Given the description of an element on the screen output the (x, y) to click on. 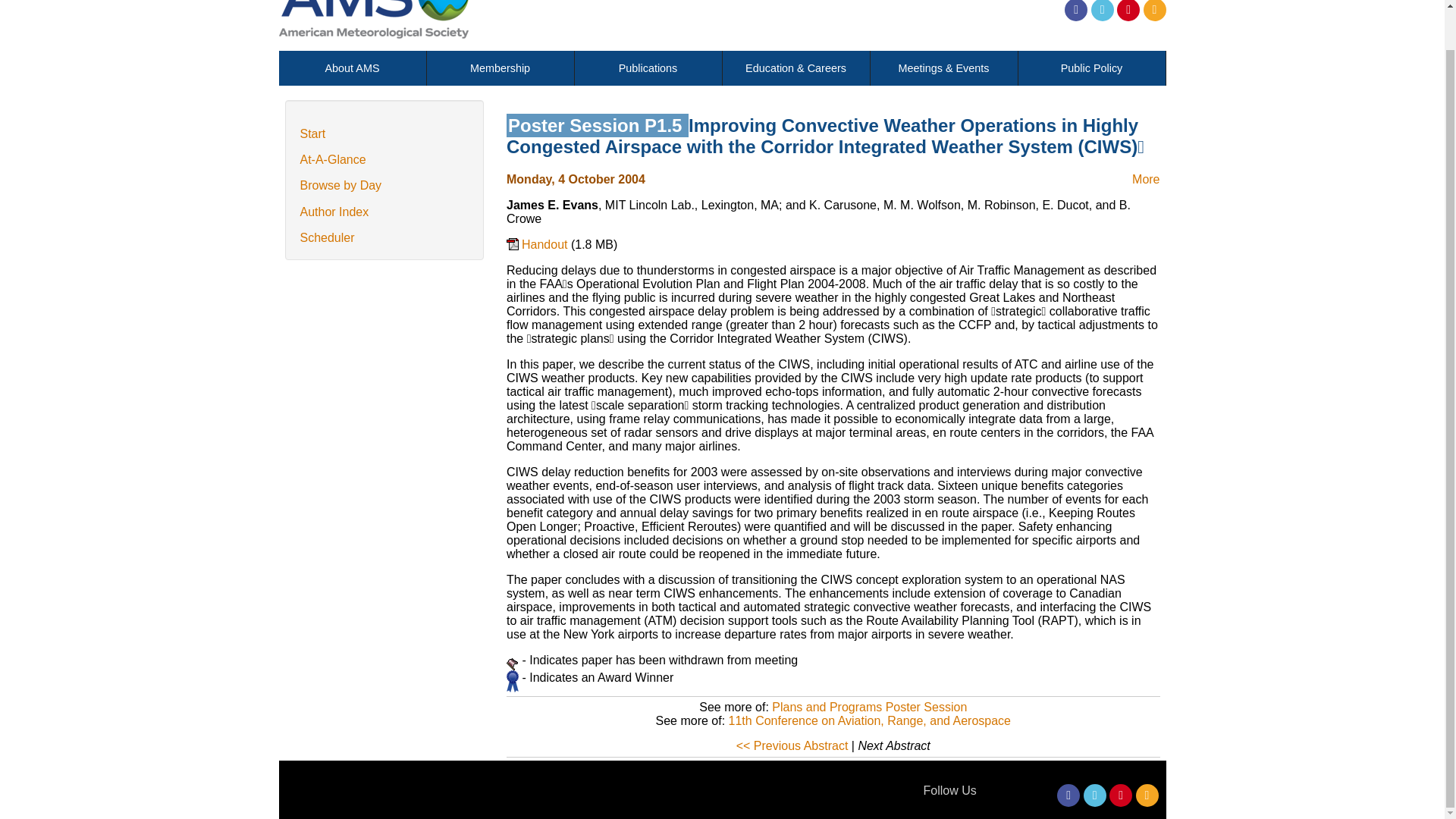
YouTube (1120, 794)
RSS (1154, 10)
Publications (648, 67)
Start (312, 133)
Twitter (1094, 794)
Browse by Day (340, 185)
Plans and Programs Poster Session (868, 707)
Facebook (1068, 794)
11th Conference on Aviation, Range, and Aerospace (869, 720)
Membership (499, 67)
Public Policy (1090, 67)
Scheduler (327, 237)
RSS (1146, 794)
More (1145, 178)
Author Index (334, 211)
